Given the description of an element on the screen output the (x, y) to click on. 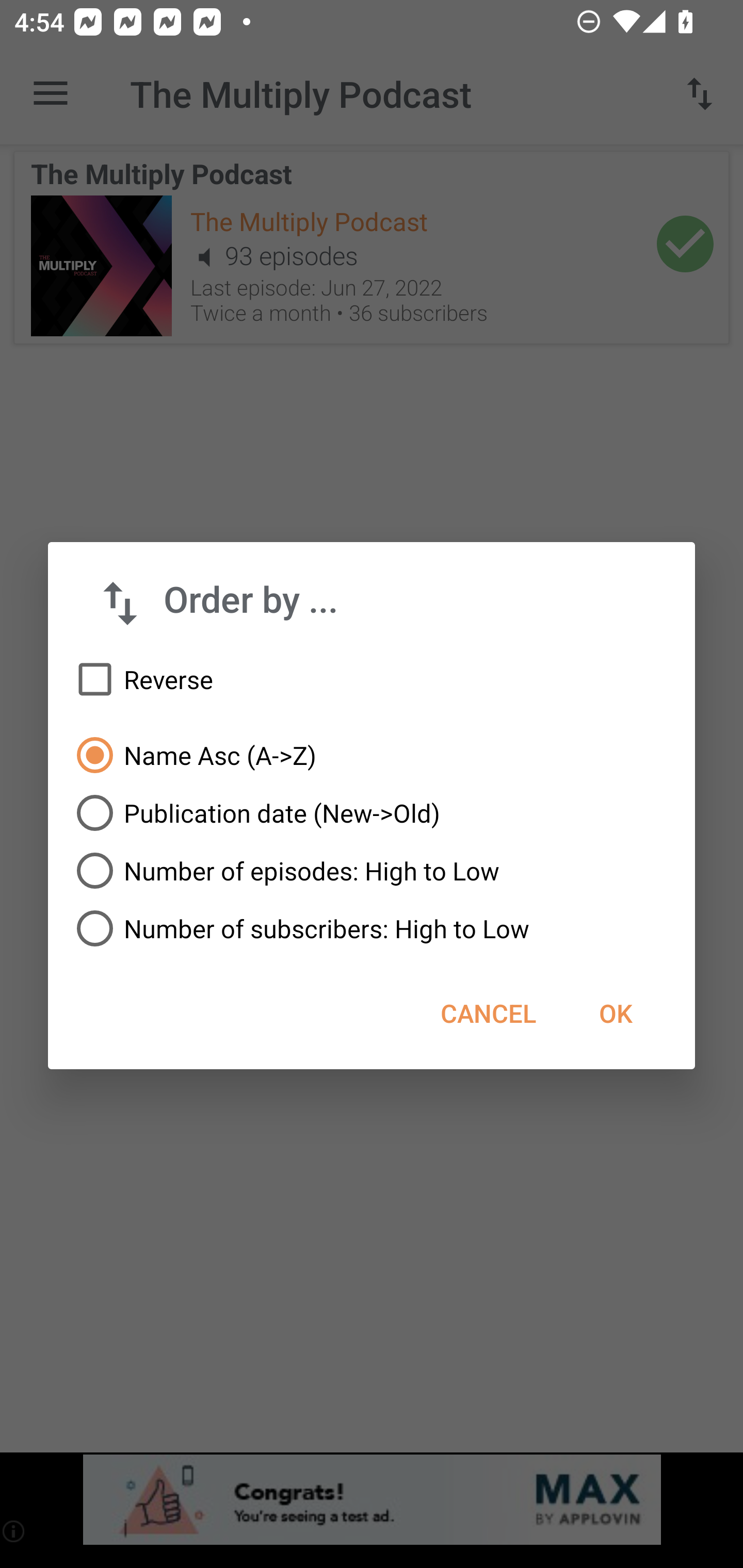
Reverse (371, 679)
Name Asc (A->Z) (371, 754)
Publication date (New->Old) (371, 813)
Number of episodes: High to Low (371, 871)
Number of subscribers: High to Low (371, 929)
CANCEL (488, 1012)
OK (615, 1012)
